Given the description of an element on the screen output the (x, y) to click on. 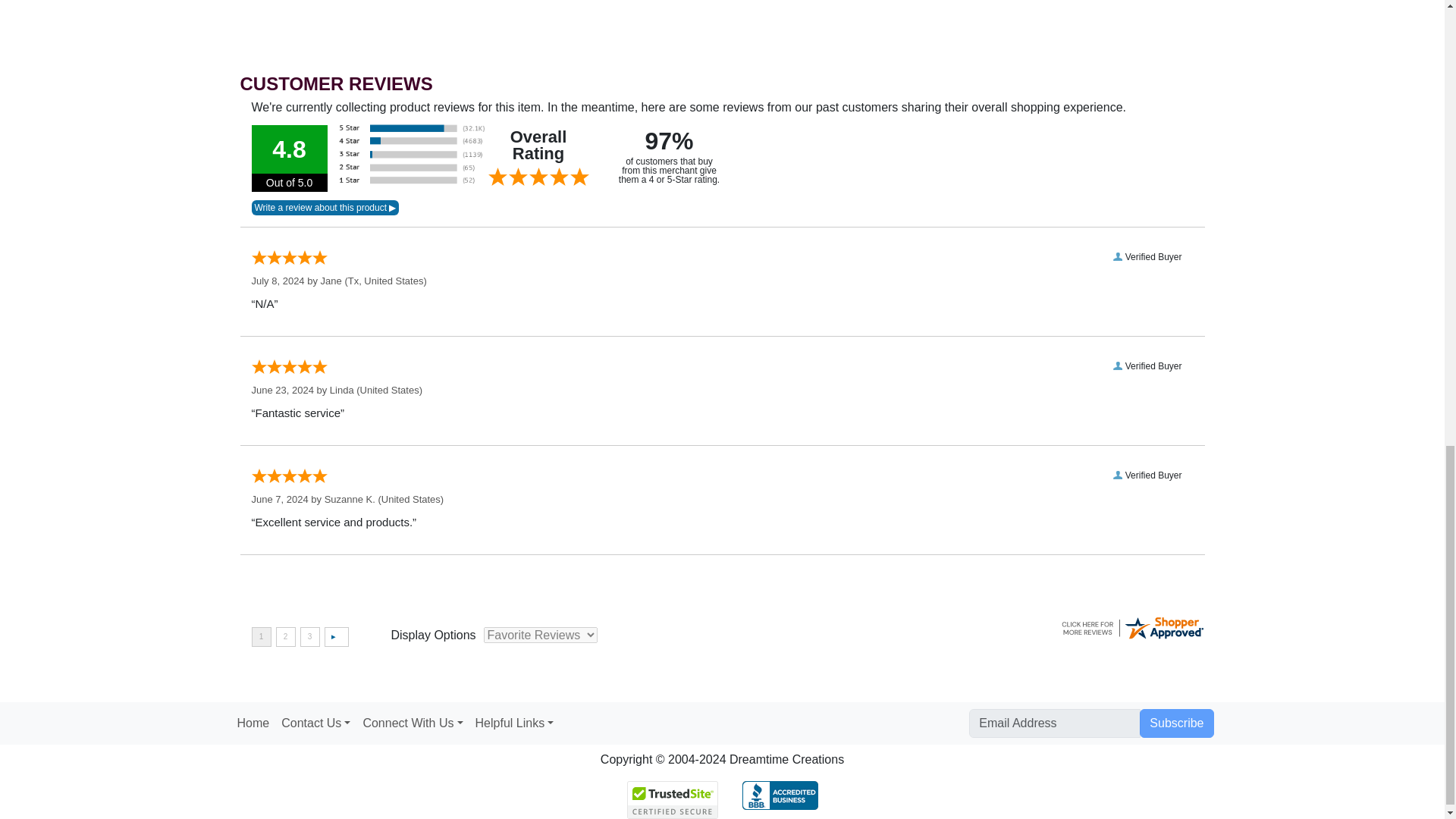
1 (260, 637)
2 (285, 637)
3 (309, 637)
